Given the description of an element on the screen output the (x, y) to click on. 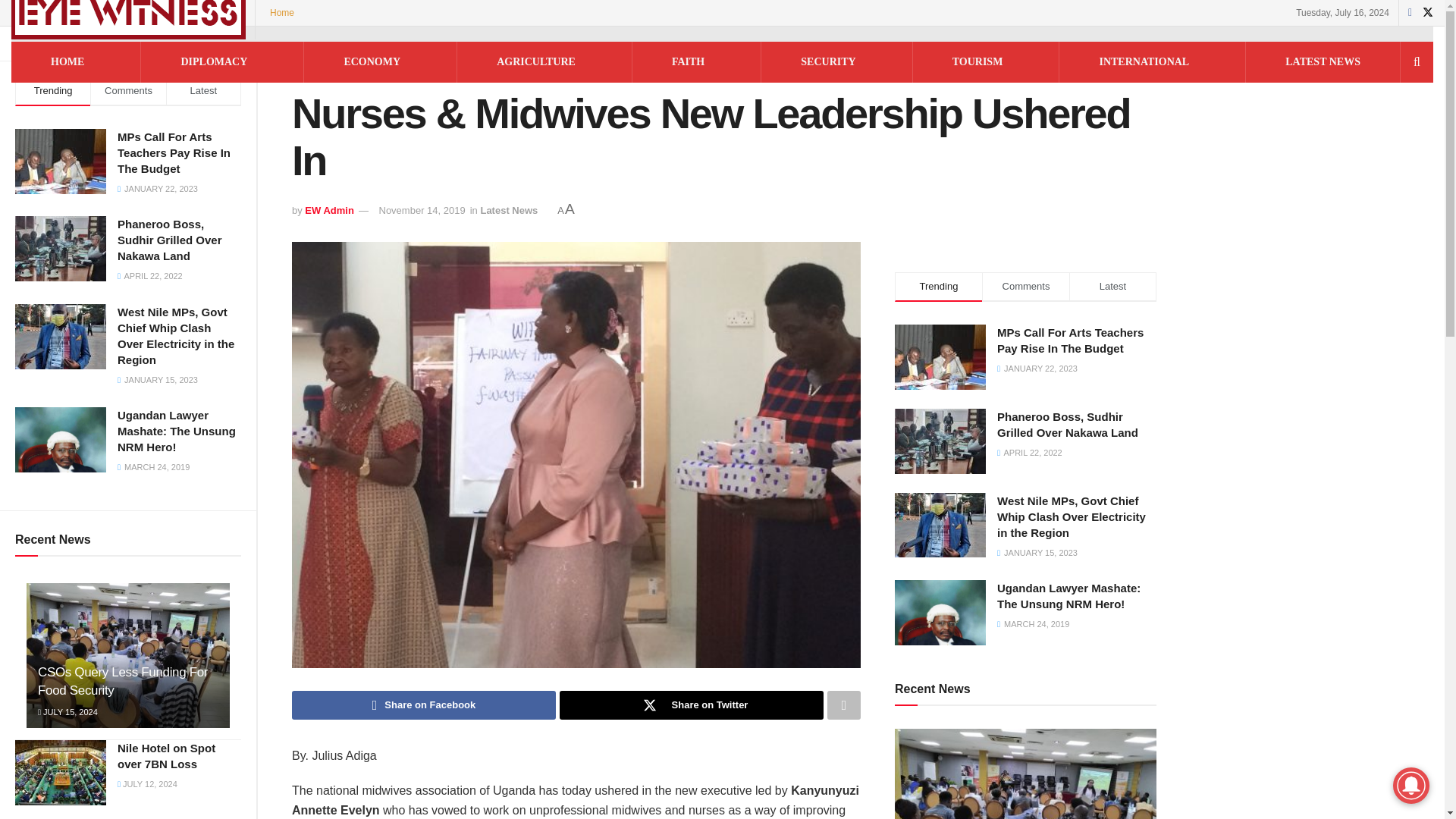
Ugandan Lawyer Mashate: The Unsung NRM Hero! (176, 430)
MPs Call For Arts Teachers Pay Rise In The Budget (173, 152)
CSOs Query Less Funding For Food Security (122, 681)
JULY 12, 2024 (147, 783)
Phaneroo Boss, Sudhir Grilled Over Nakawa Land (169, 239)
Nile Hotel on Spot over 7BN Loss  (166, 756)
JULY 15, 2024 (67, 711)
